Given the description of an element on the screen output the (x, y) to click on. 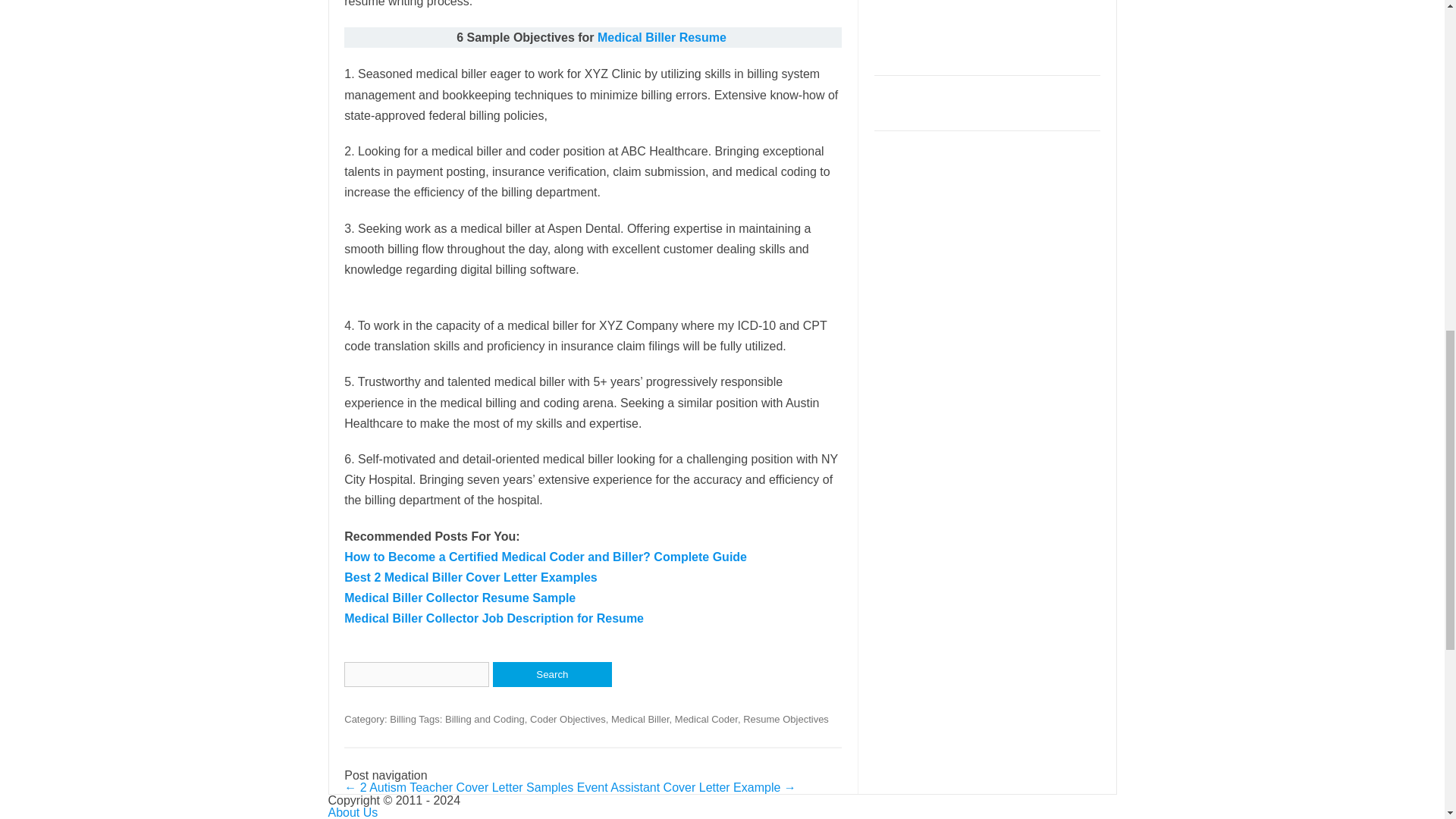
Contact Us (357, 818)
Coder Objectives (567, 718)
Medical Coder (706, 718)
Resume Objectives (785, 718)
Search (552, 674)
Billing and Coding (484, 718)
Search (552, 674)
About Us (352, 812)
